Given the description of an element on the screen output the (x, y) to click on. 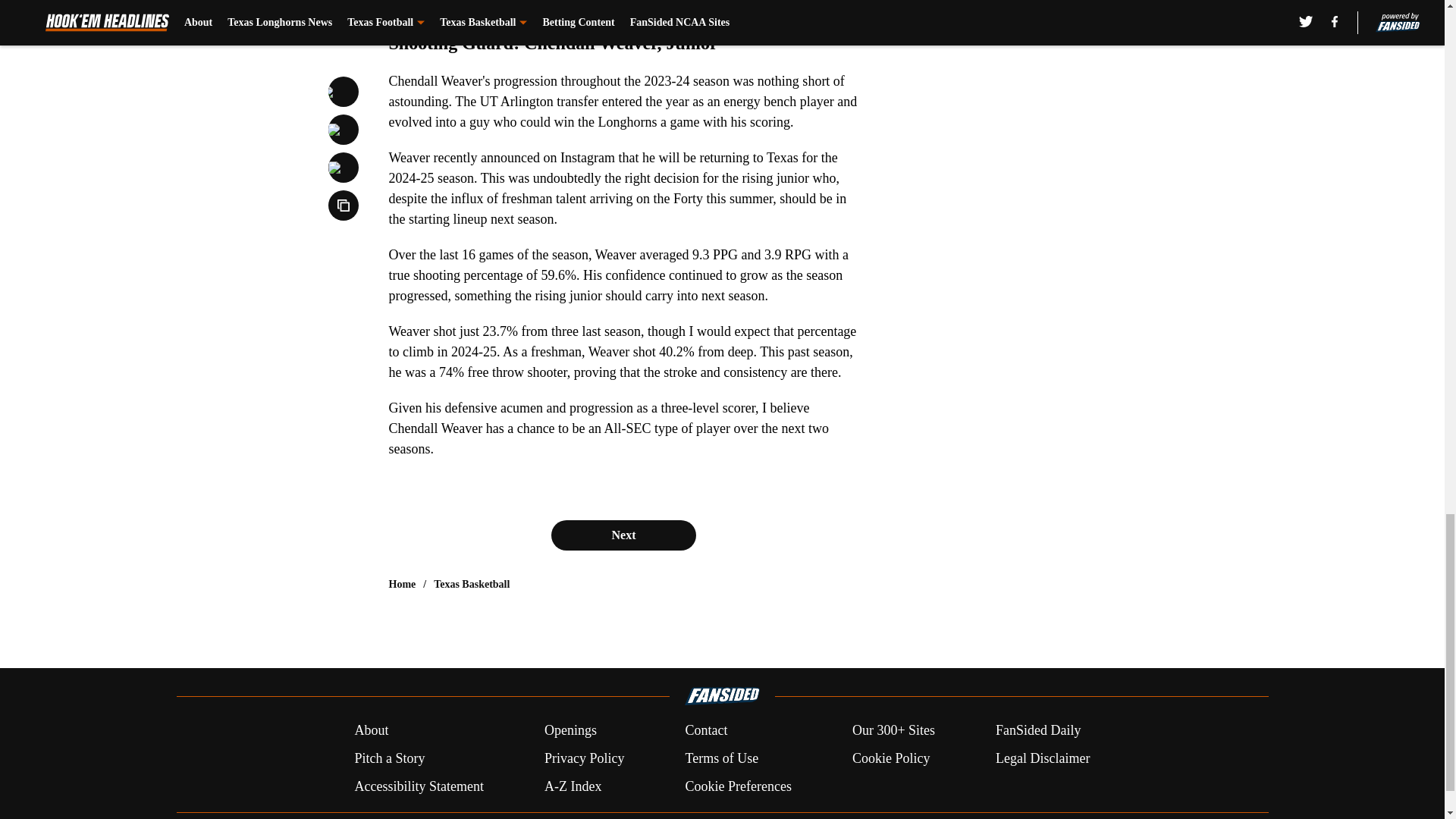
Texas Basketball (471, 584)
Contact (705, 730)
Terms of Use (721, 758)
A-Z Index (572, 786)
FanSided Daily (1038, 730)
Pitch a Story (389, 758)
Cookie Policy (890, 758)
About (370, 730)
Next (622, 535)
Legal Disclaimer (1042, 758)
